Given the description of an element on the screen output the (x, y) to click on. 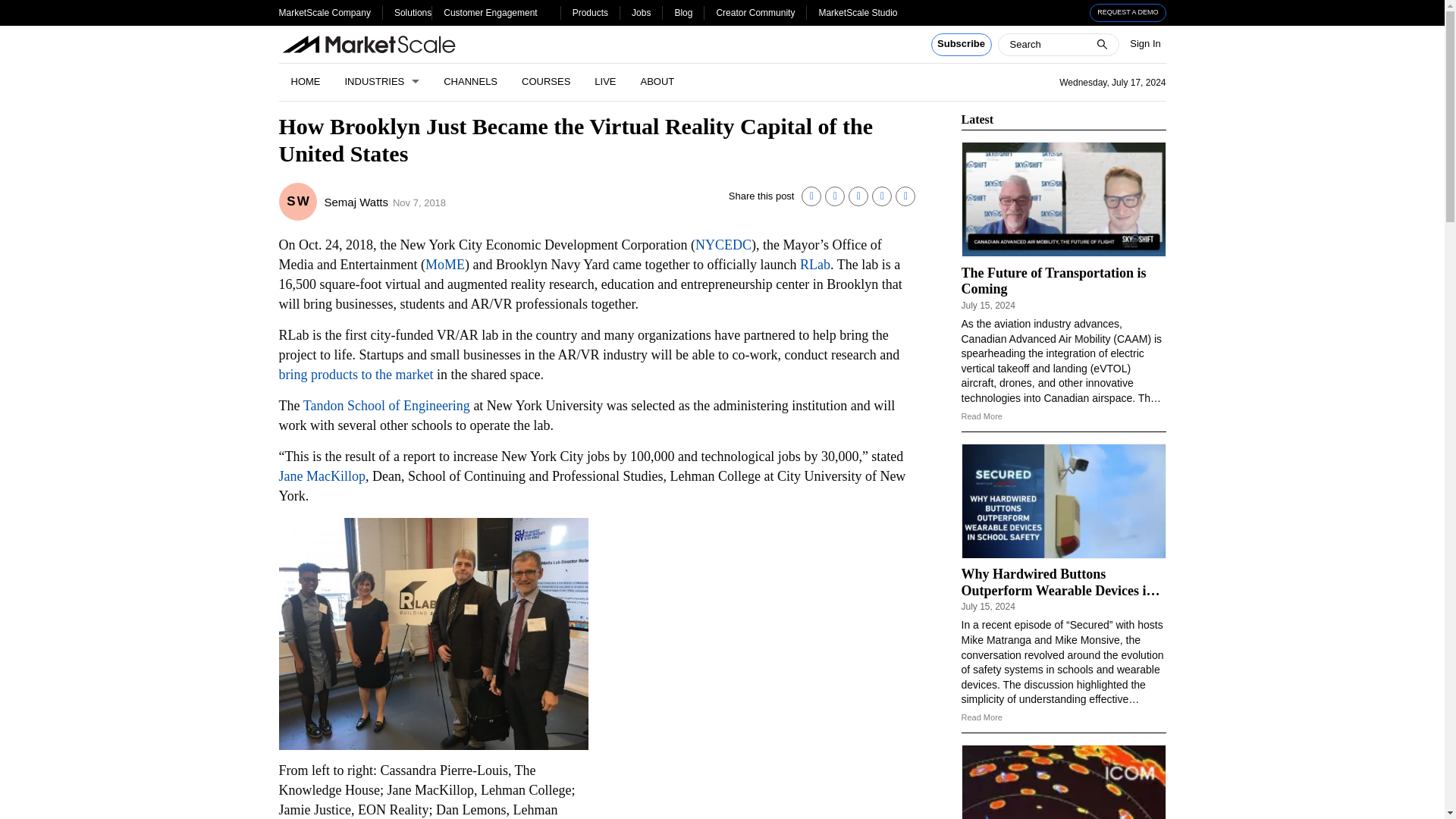
Semaj Watts (298, 201)
Share on X (834, 196)
Solutions (412, 12)
Share on Linkedin (811, 196)
MarketScale Company (325, 12)
Search (21, 7)
Creator Community (755, 12)
Semaj Watts (356, 201)
Products (590, 12)
Blog (683, 12)
MarketScale Studio (857, 12)
Subscribe (961, 44)
Jobs (640, 12)
Share on Facebook (857, 196)
Customer Engagement (490, 12)
